Given the description of an element on the screen output the (x, y) to click on. 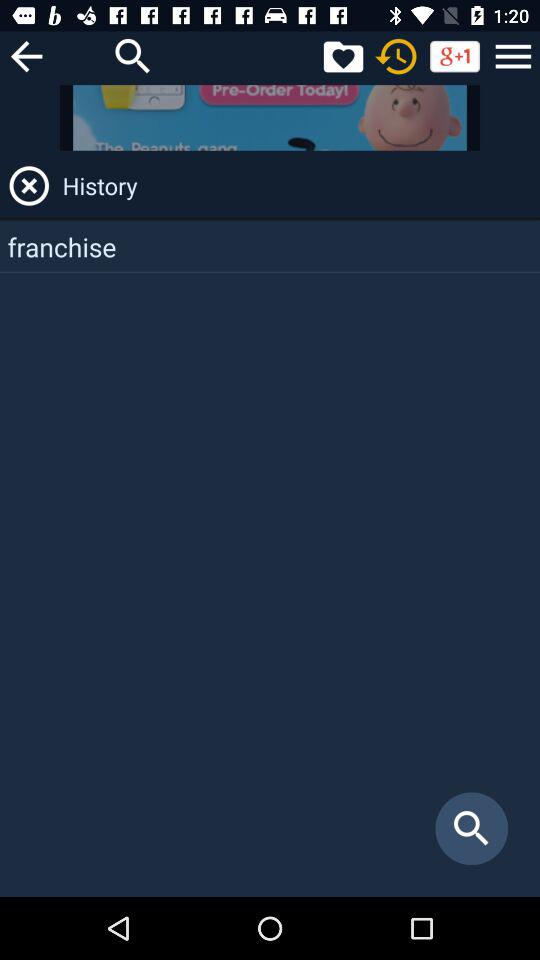
banner add (270, 117)
